Given the description of an element on the screen output the (x, y) to click on. 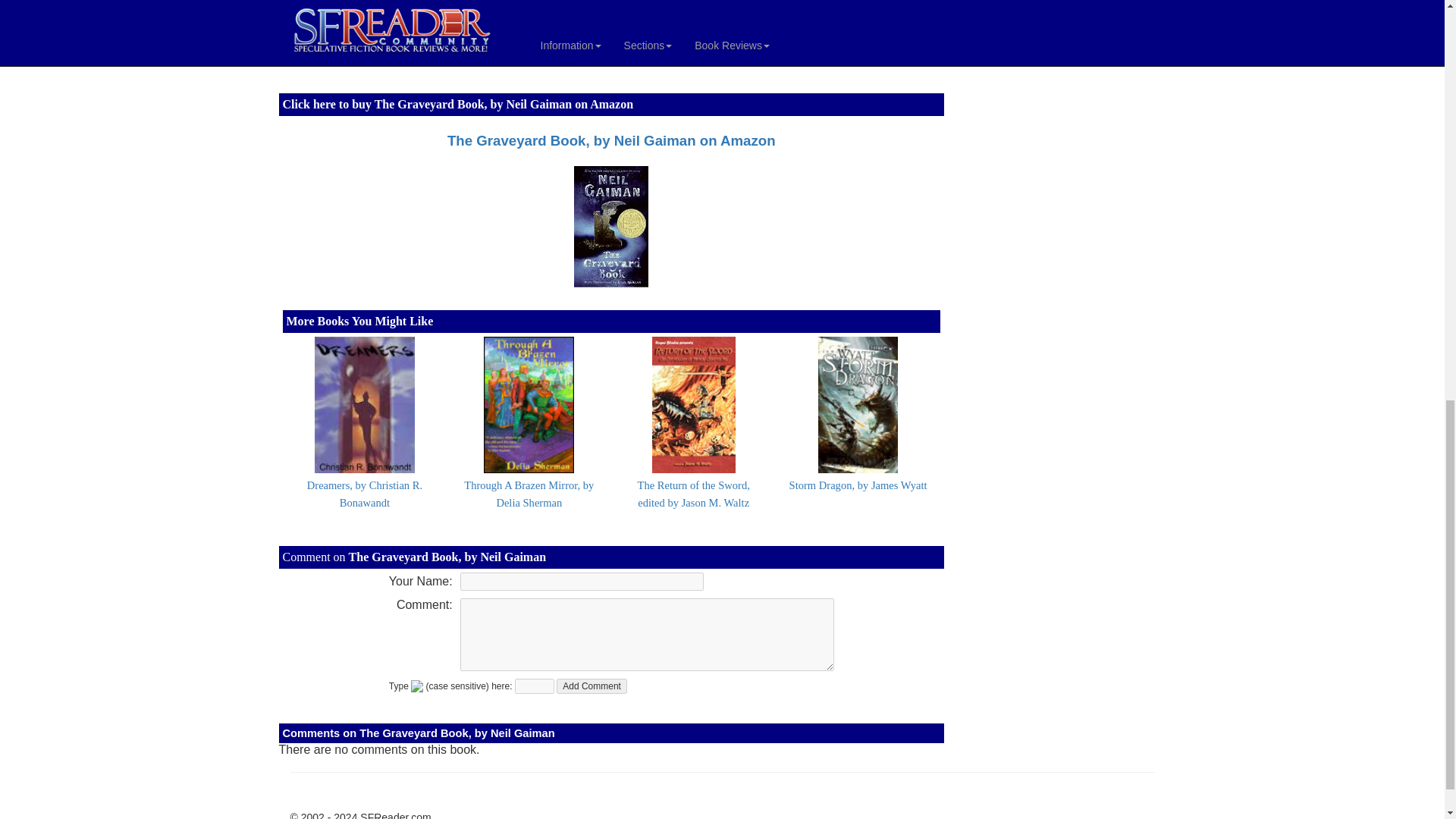
Add Comment (591, 685)
Dreamers, by Christian R. Bonawandt (364, 493)
The Graveyard Book, by Neil Gaiman on Amazon (611, 140)
